Given the description of an element on the screen output the (x, y) to click on. 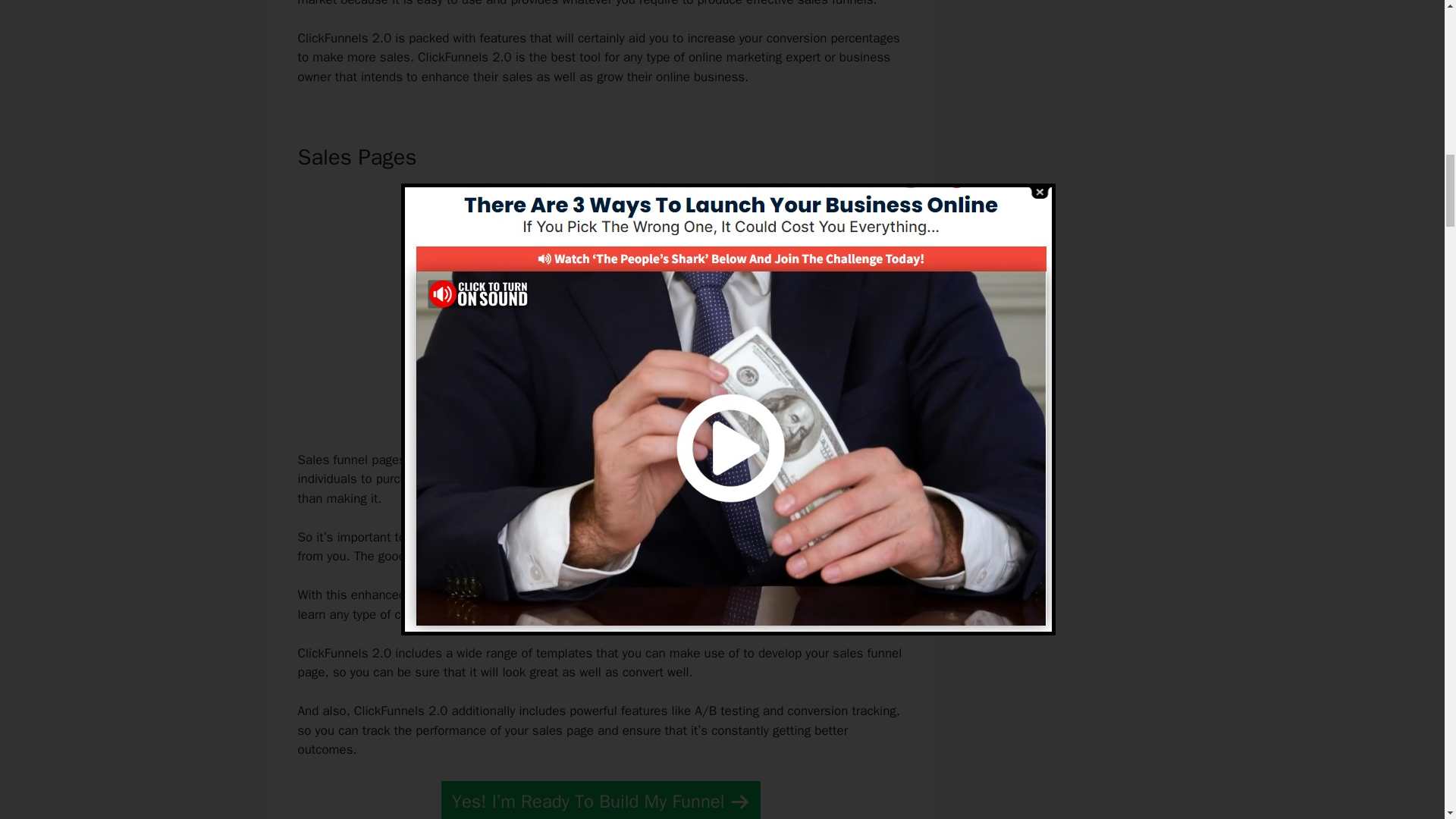
YouTube video player (596, 305)
